Given the description of an element on the screen output the (x, y) to click on. 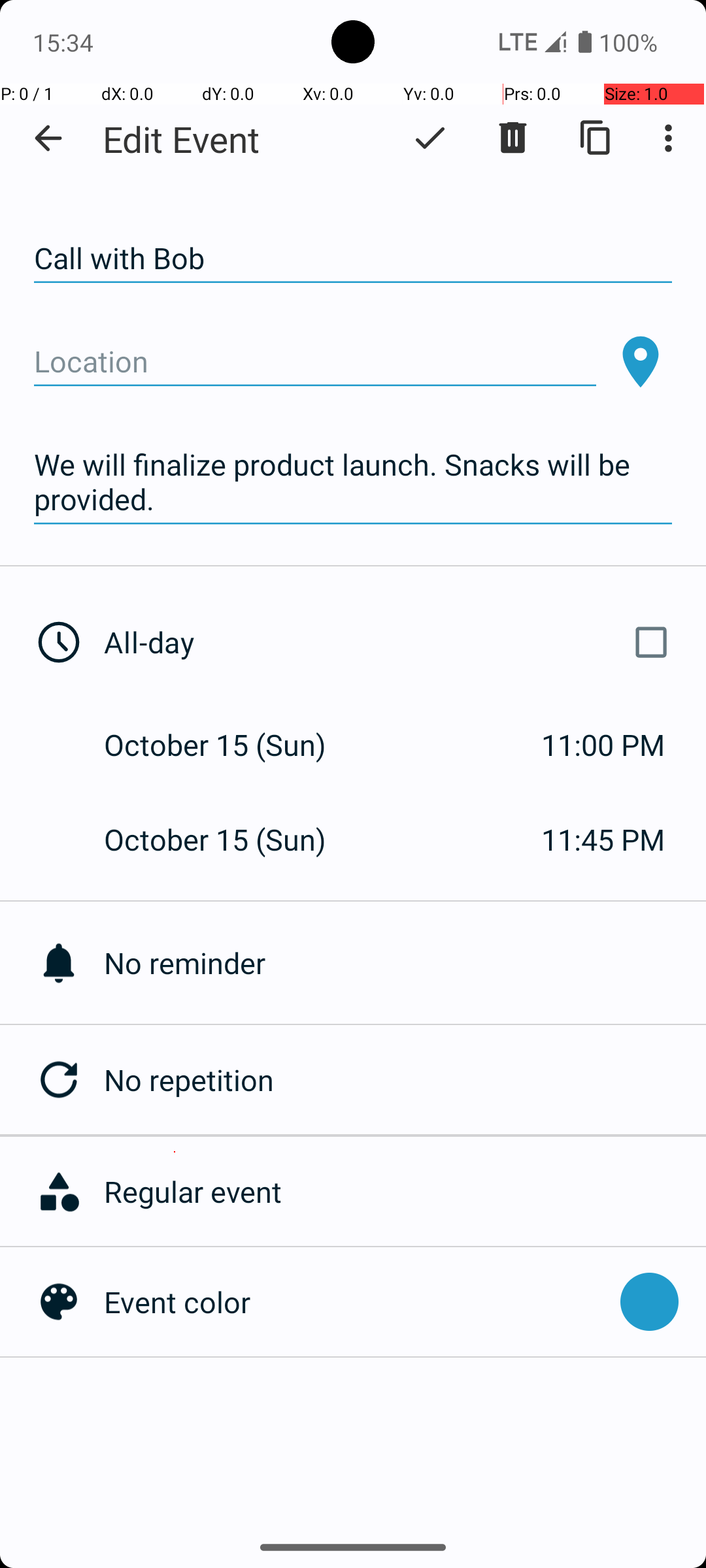
Call with Bob Element type: android.widget.EditText (352, 258)
We will finalize product launch. Snacks will be provided. Element type: android.widget.EditText (352, 482)
11:00 PM Element type: android.widget.TextView (602, 744)
11:45 PM Element type: android.widget.TextView (602, 838)
